Given the description of an element on the screen output the (x, y) to click on. 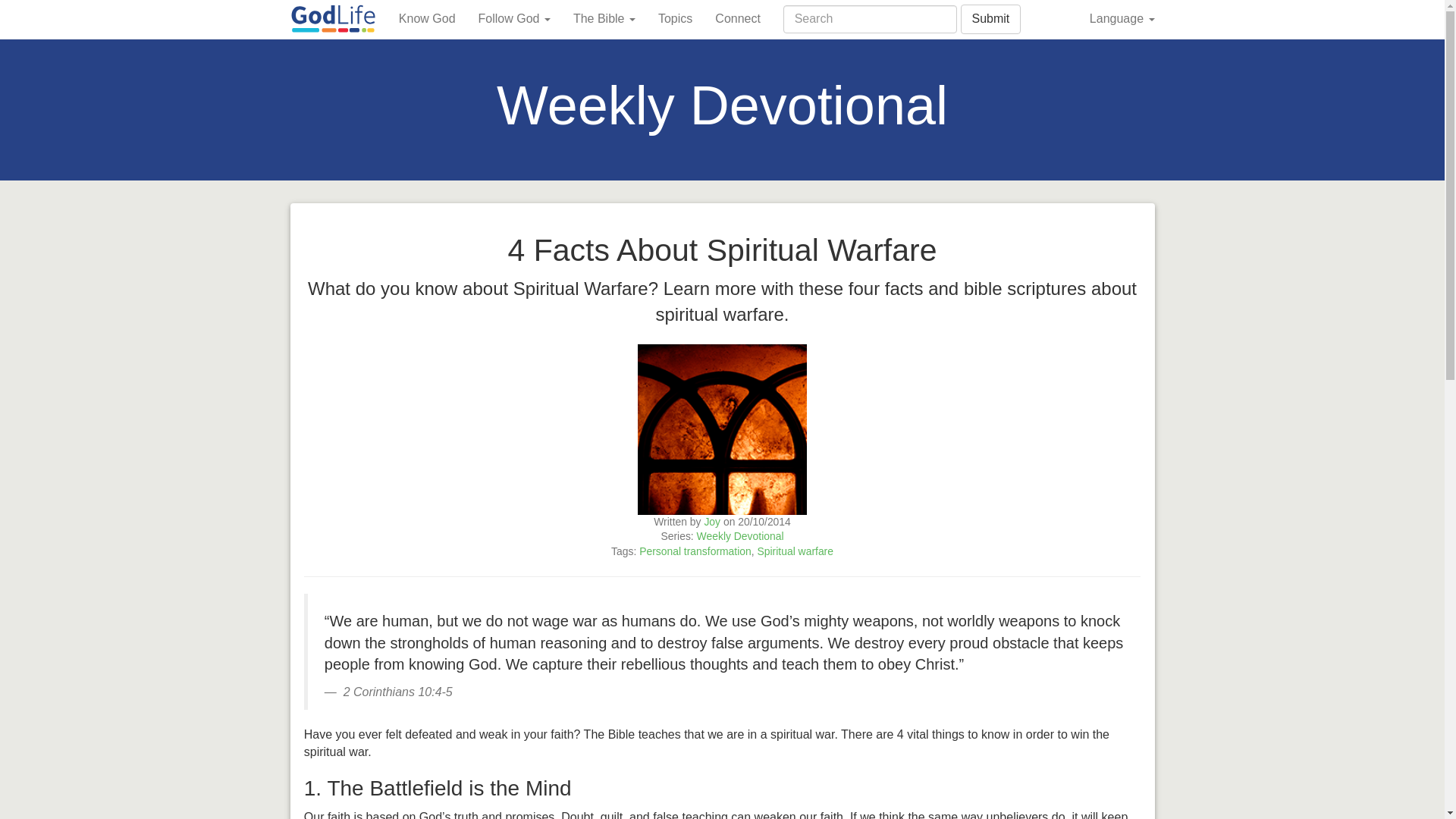
Language (1122, 18)
Submit (990, 19)
Topics (674, 18)
Weekly Devotional (740, 535)
Spiritual warfare (794, 551)
Joy (711, 521)
Follow God (514, 18)
Connect (737, 18)
Personal transformation (695, 551)
Know God (427, 18)
The Bible (604, 18)
